Given the description of an element on the screen output the (x, y) to click on. 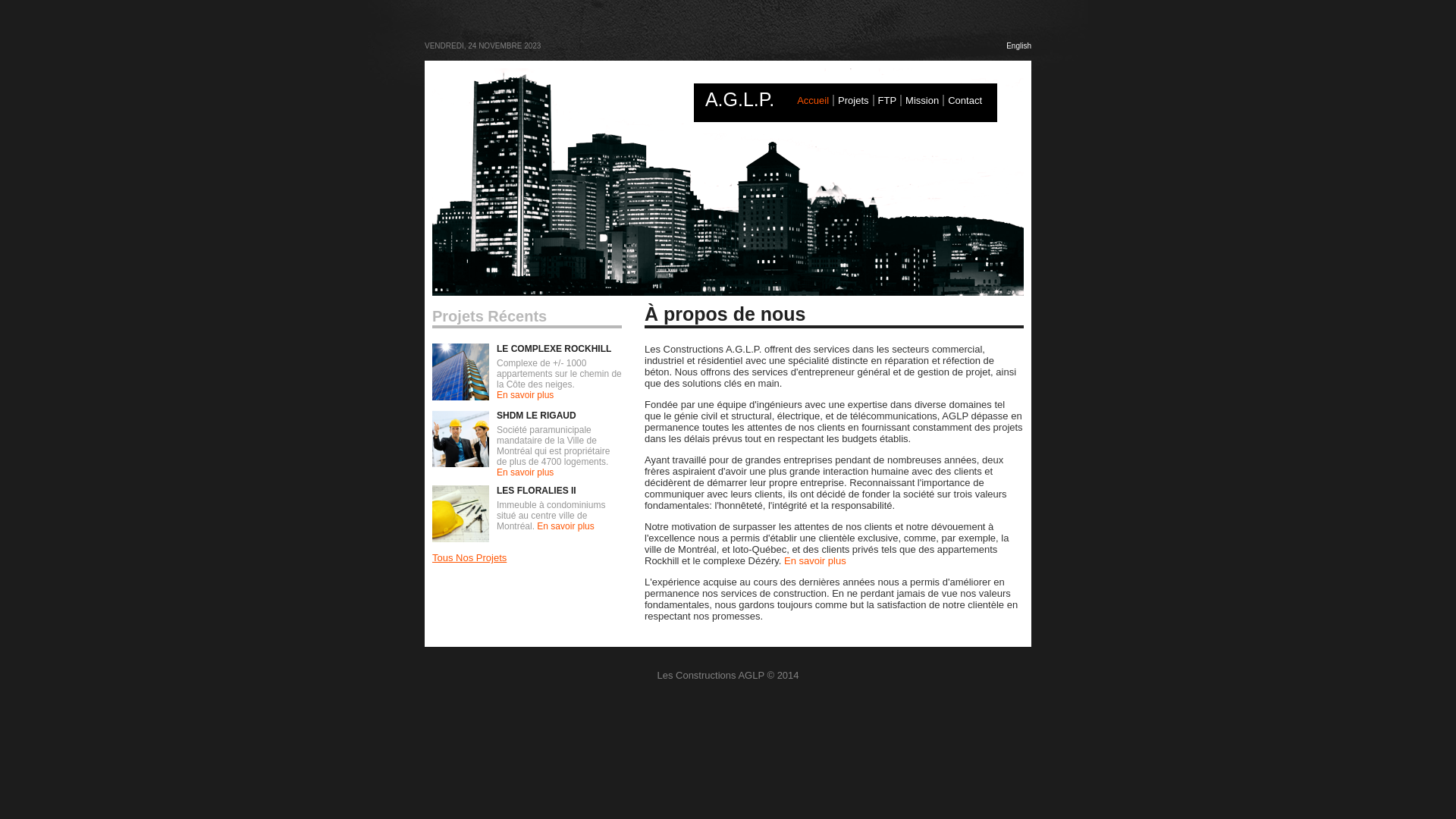
En savoir plus Element type: text (815, 560)
Mission Element type: text (921, 100)
Tous Nos Projets Element type: text (469, 557)
English Element type: text (1018, 45)
En savoir plus Element type: text (524, 472)
En savoir plus Element type: text (564, 525)
Contact Element type: text (964, 100)
FTP Element type: text (887, 100)
En savoir plus Element type: text (524, 394)
Accueil Element type: text (812, 100)
Projets Element type: text (852, 100)
